Given the description of an element on the screen output the (x, y) to click on. 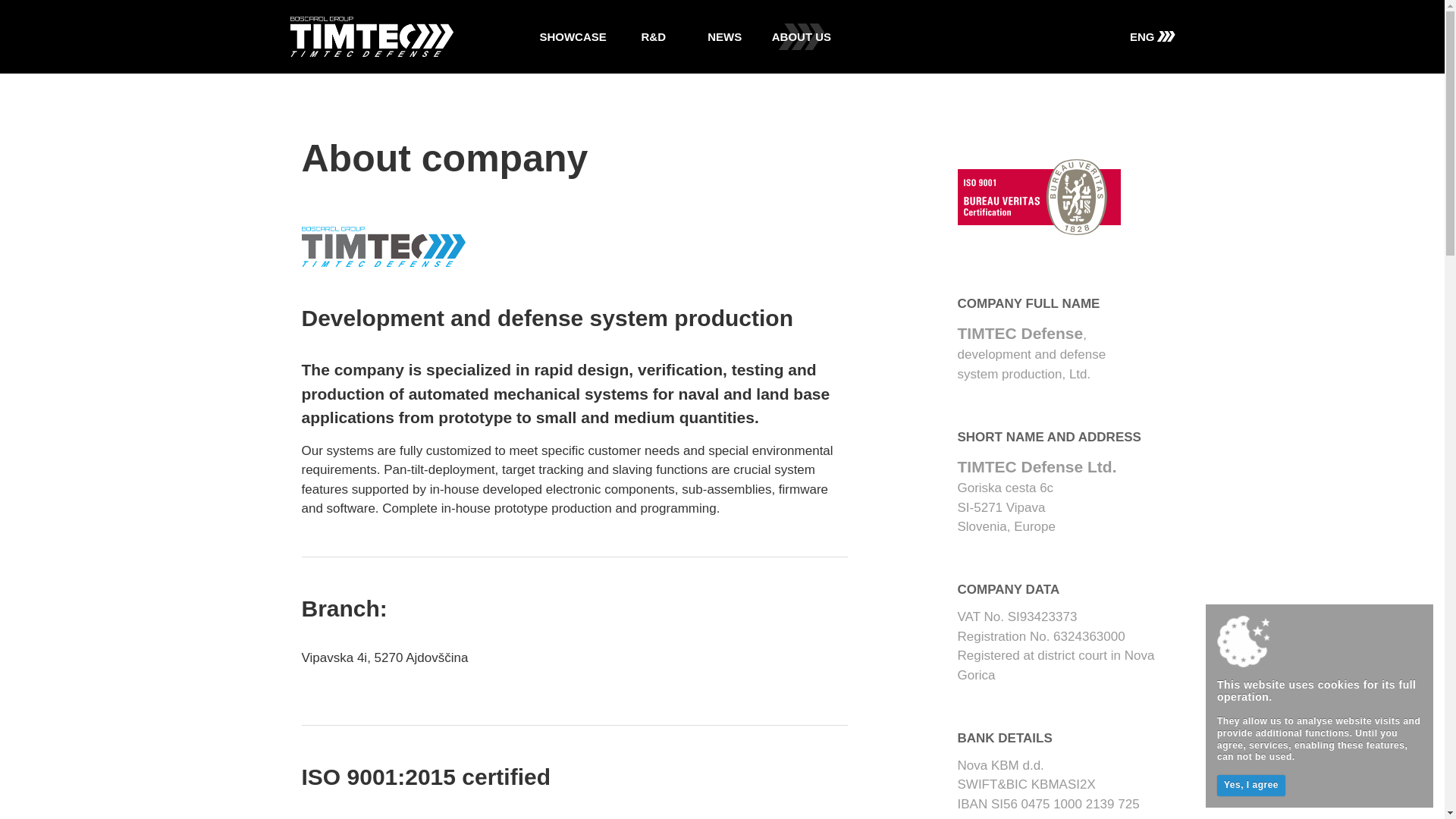
ABOUT US (801, 36)
TIMTEC (370, 36)
Yes, I agree (1251, 785)
SHOWCASE (571, 36)
NEWS (724, 36)
